Given the description of an element on the screen output the (x, y) to click on. 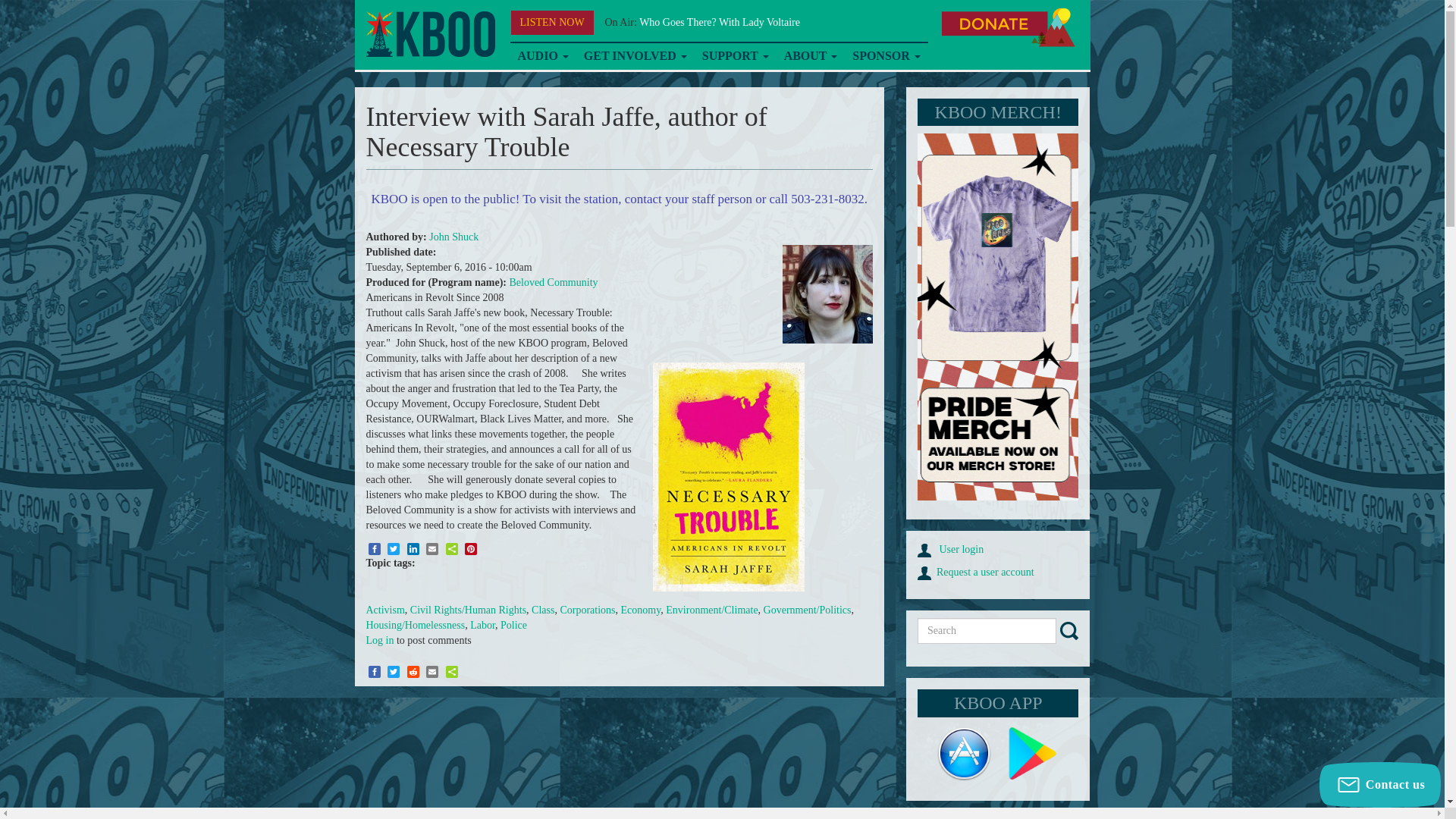
SUPPORT (735, 55)
GET INVOLVED (635, 55)
Who Goes There? With Lady Voltaire (719, 21)
LISTEN NOW (551, 22)
ABOUT (810, 55)
Home (430, 34)
AUDIO (542, 55)
